Given the description of an element on the screen output the (x, y) to click on. 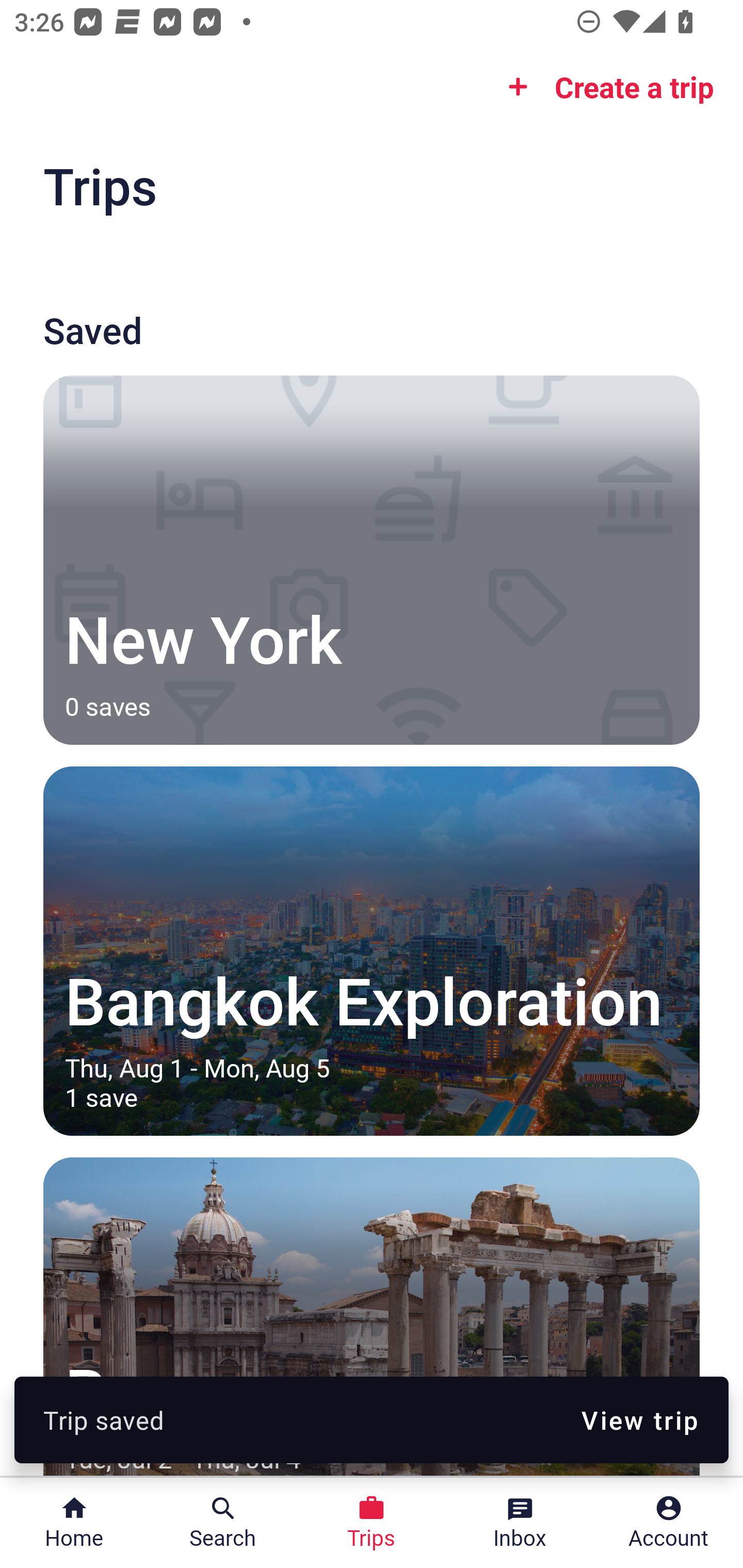
Create a trip Create a trip Button (605, 86)
New York. 0 saves.  Button New York 0 saves (371, 559)
View trip (640, 1419)
Home Home Button (74, 1522)
Search Search Button (222, 1522)
Inbox Inbox Button (519, 1522)
Account Profile. Button (668, 1522)
